Given the description of an element on the screen output the (x, y) to click on. 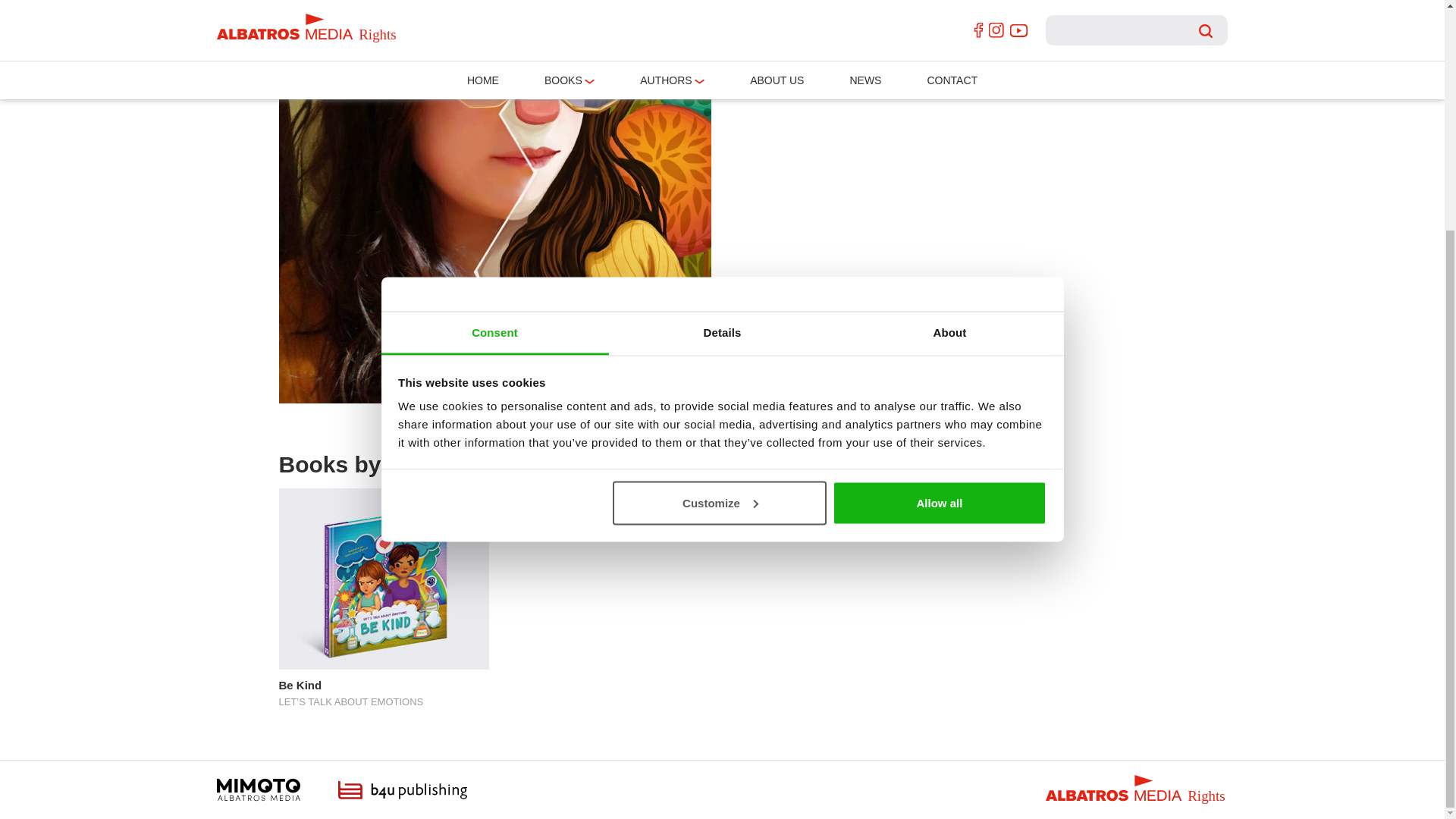
Consent (494, 22)
Details (721, 22)
Allow all (939, 190)
Rights (1136, 789)
Customize (719, 190)
About (948, 22)
